Given the description of an element on the screen output the (x, y) to click on. 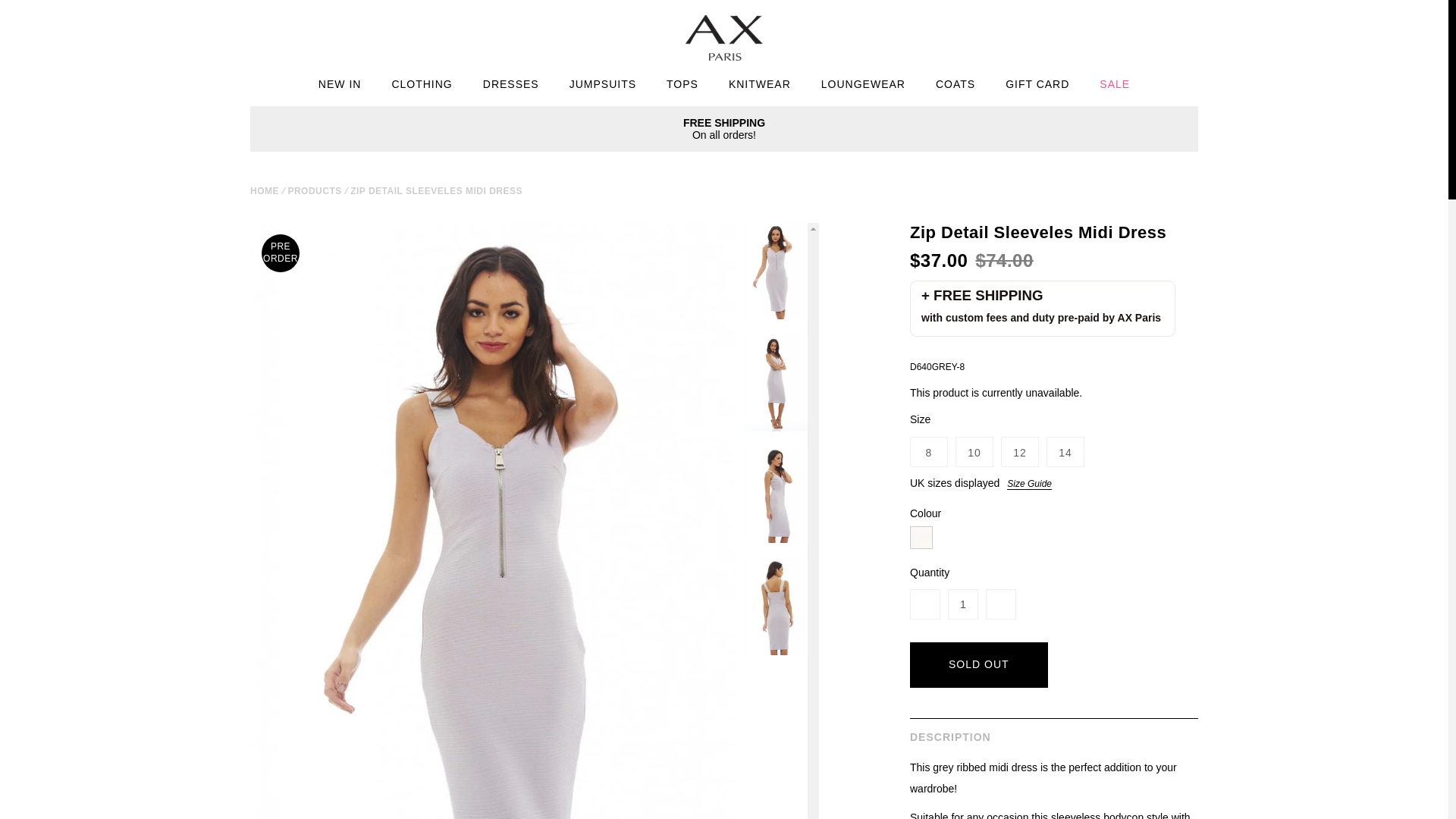
Home (264, 190)
12 (1019, 451)
CLOTHING (421, 87)
10 (974, 451)
DRESSES (510, 87)
1 (962, 603)
10 (974, 451)
Products (313, 190)
NEW IN (339, 87)
8 (929, 451)
